Given the description of an element on the screen output the (x, y) to click on. 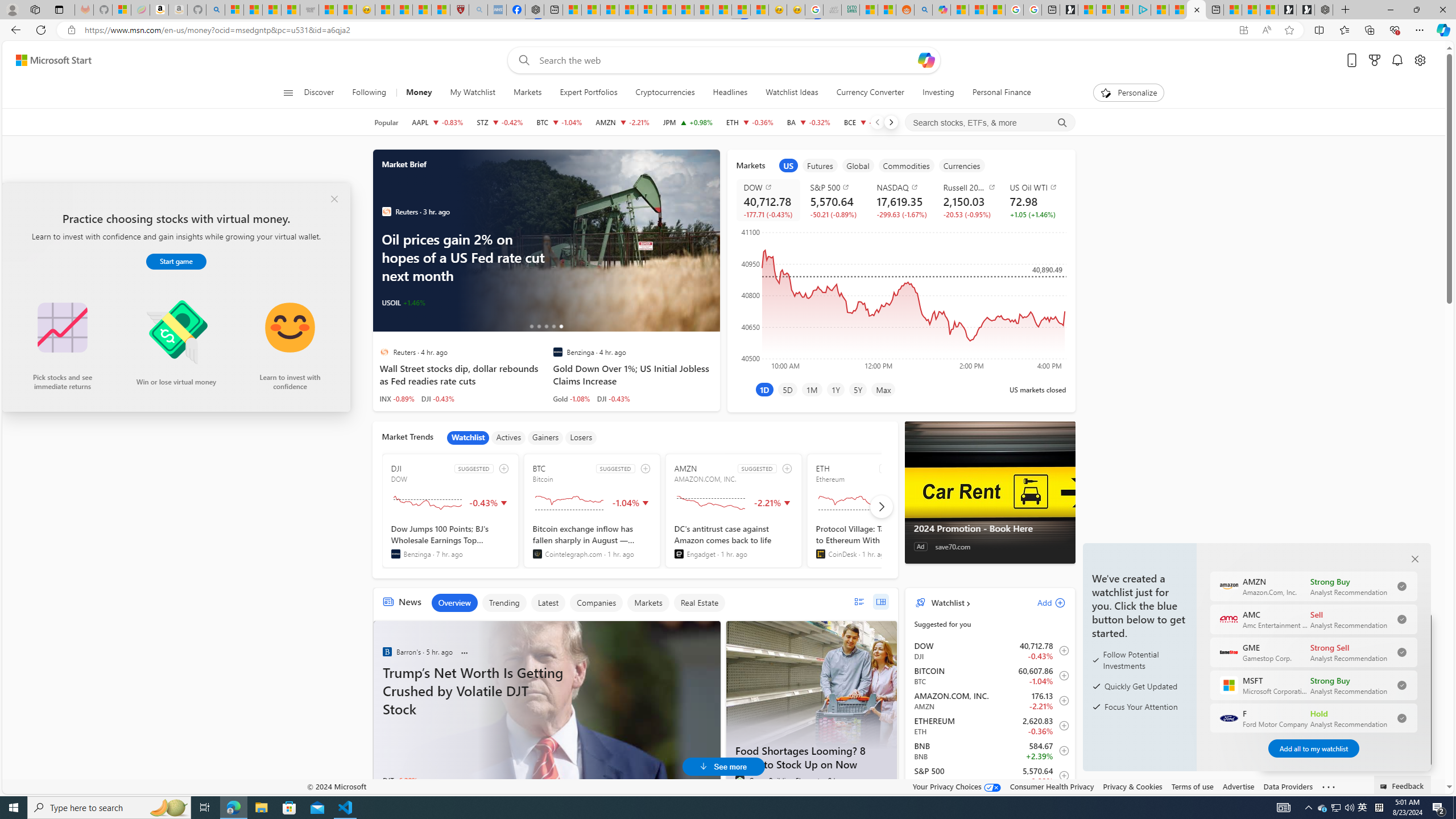
BCE BCE Inc decrease 34.55 -0.08 -0.22% (866, 122)
item3 (857, 164)
Following (370, 92)
item4 (905, 164)
1M (811, 389)
STZ CONSTELLATION BRANDS, INC. decrease 243.70 -1.04 -0.42% (499, 122)
Discover (319, 92)
Tab actions menu (58, 9)
Skip to content (49, 59)
MSFT -2.03% (446, 302)
Headlines (729, 92)
